Given the description of an element on the screen output the (x, y) to click on. 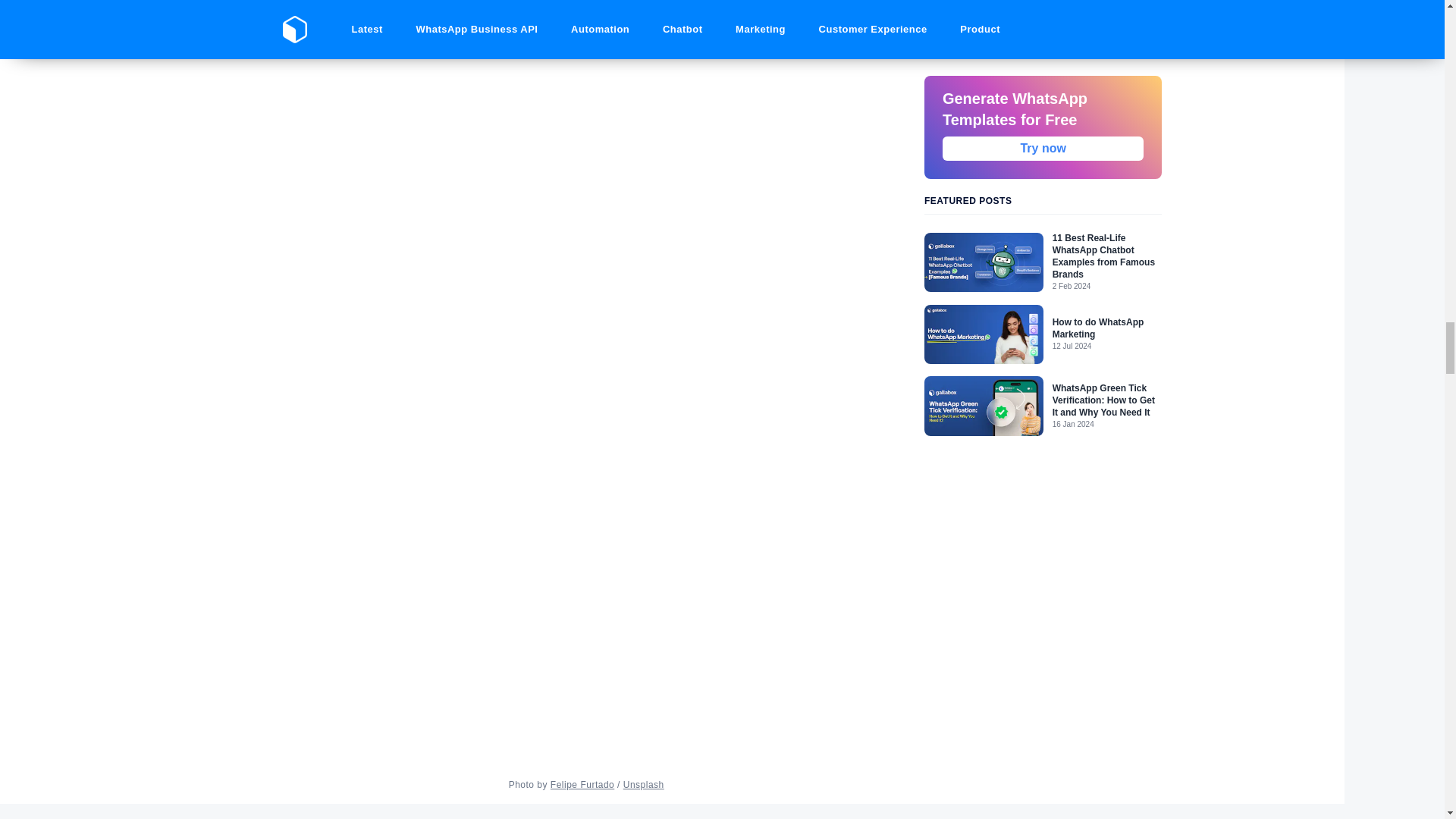
Felipe Furtado (582, 784)
Unsplash (643, 784)
